Given the description of an element on the screen output the (x, y) to click on. 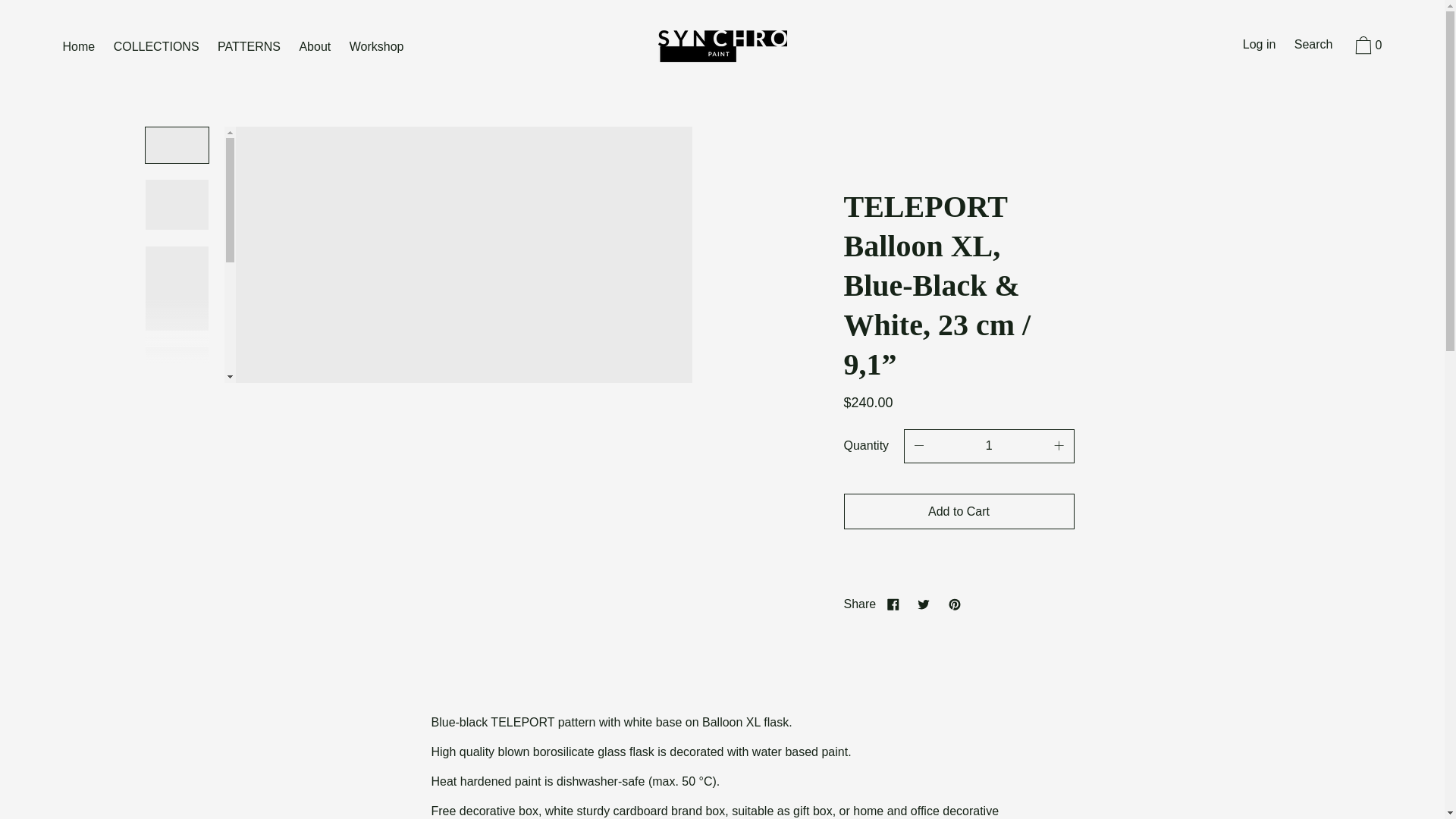
0 (1366, 47)
Tweet on Twitter (923, 603)
Workshop (377, 47)
Log in (1259, 46)
1 (988, 445)
Search (1313, 46)
PATTERNS (248, 47)
Pin on Pinterest (954, 603)
Share on Facebook (893, 603)
COLLECTIONS (156, 47)
Home (78, 47)
About (314, 47)
Add to Cart (958, 511)
